Given the description of an element on the screen output the (x, y) to click on. 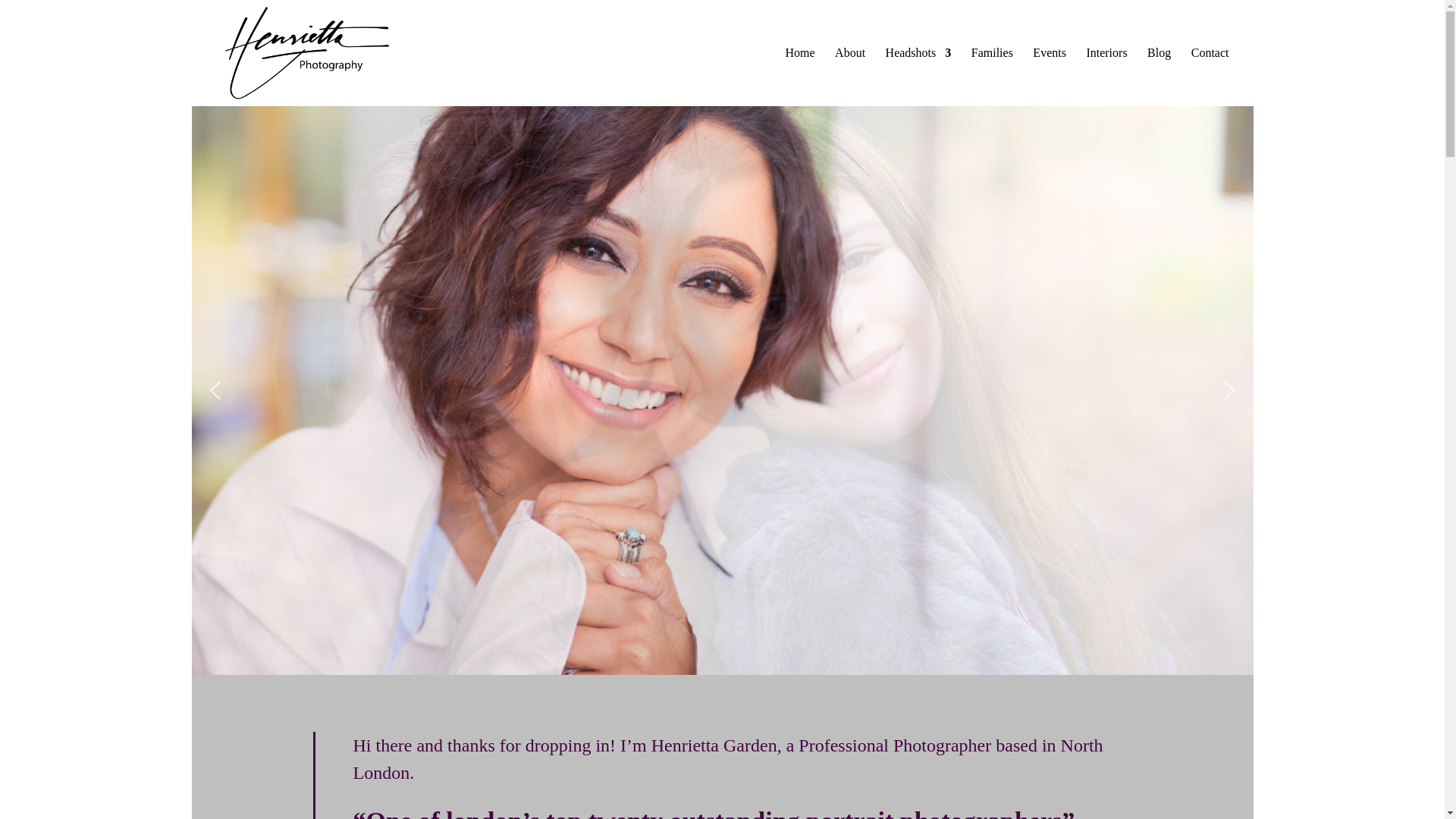
Headshots (918, 76)
